Given the description of an element on the screen output the (x, y) to click on. 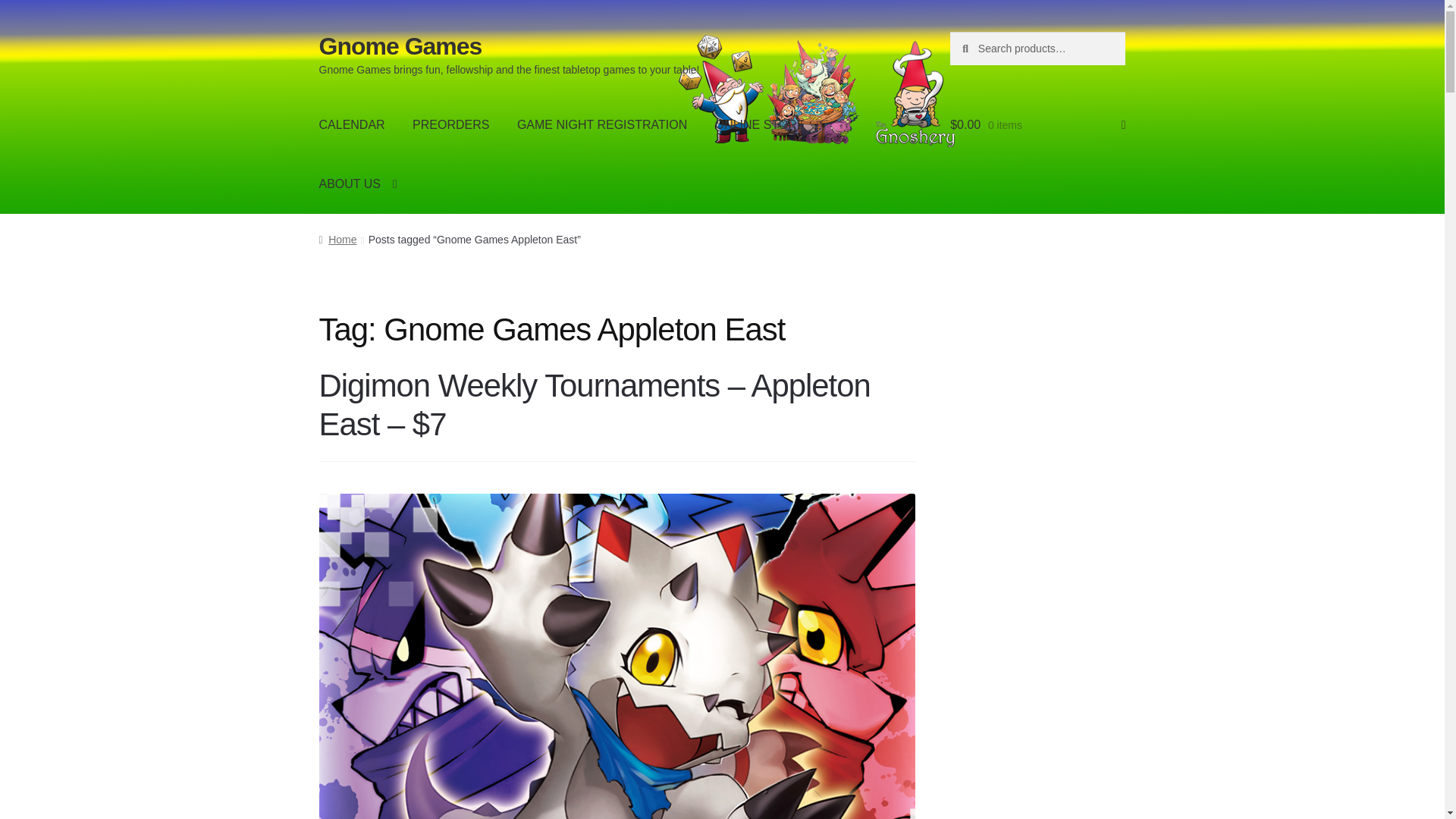
GAME NIGHT REGISTRATION (601, 124)
Gnome Games (399, 45)
PREORDERS (450, 124)
CALENDAR (352, 124)
View your shopping cart (1037, 124)
ABOUT US (358, 183)
ONLINE STORE (768, 124)
